Given the description of an element on the screen output the (x, y) to click on. 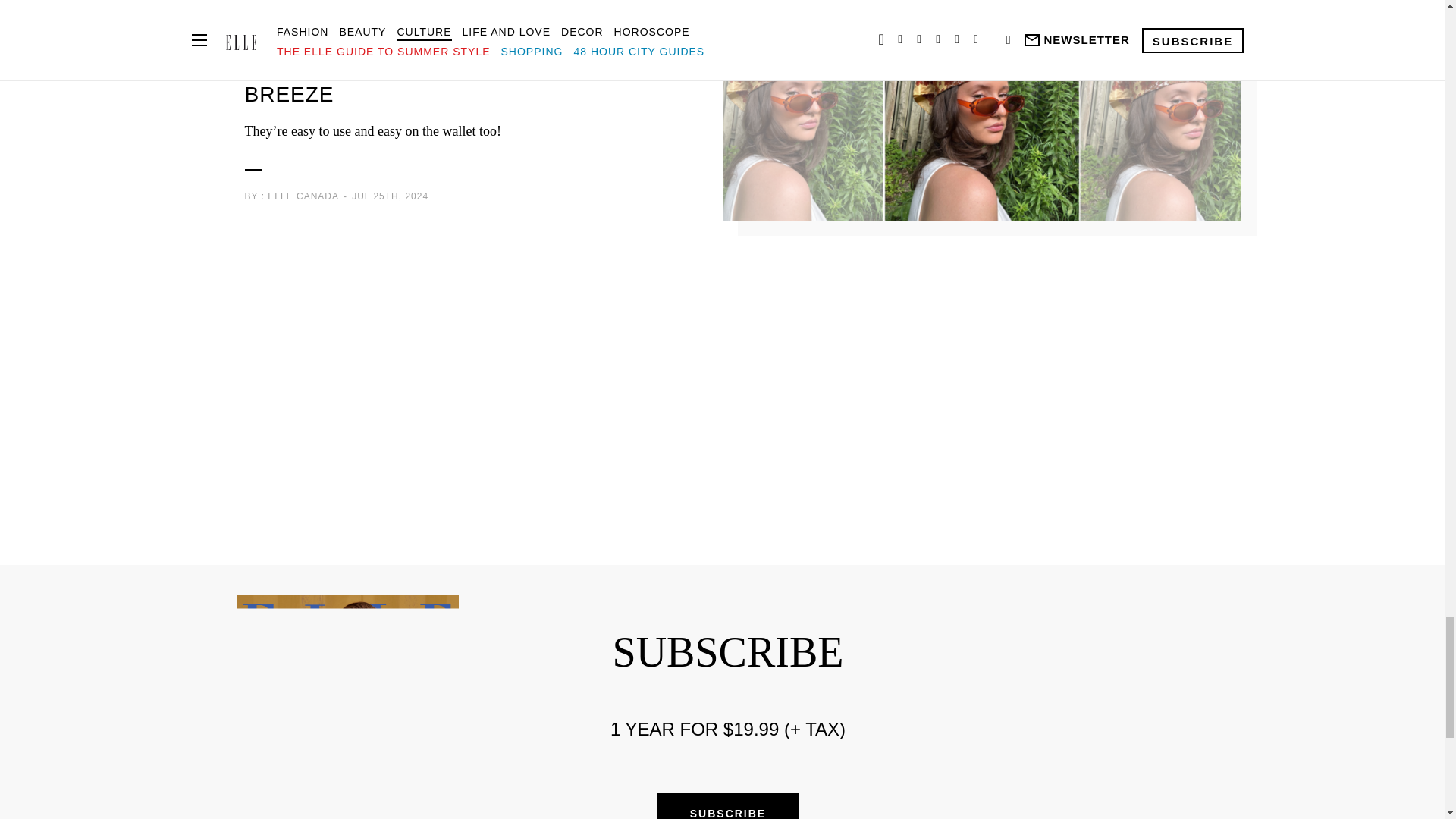
SUBSCRIBE (727, 806)
